Given the description of an element on the screen output the (x, y) to click on. 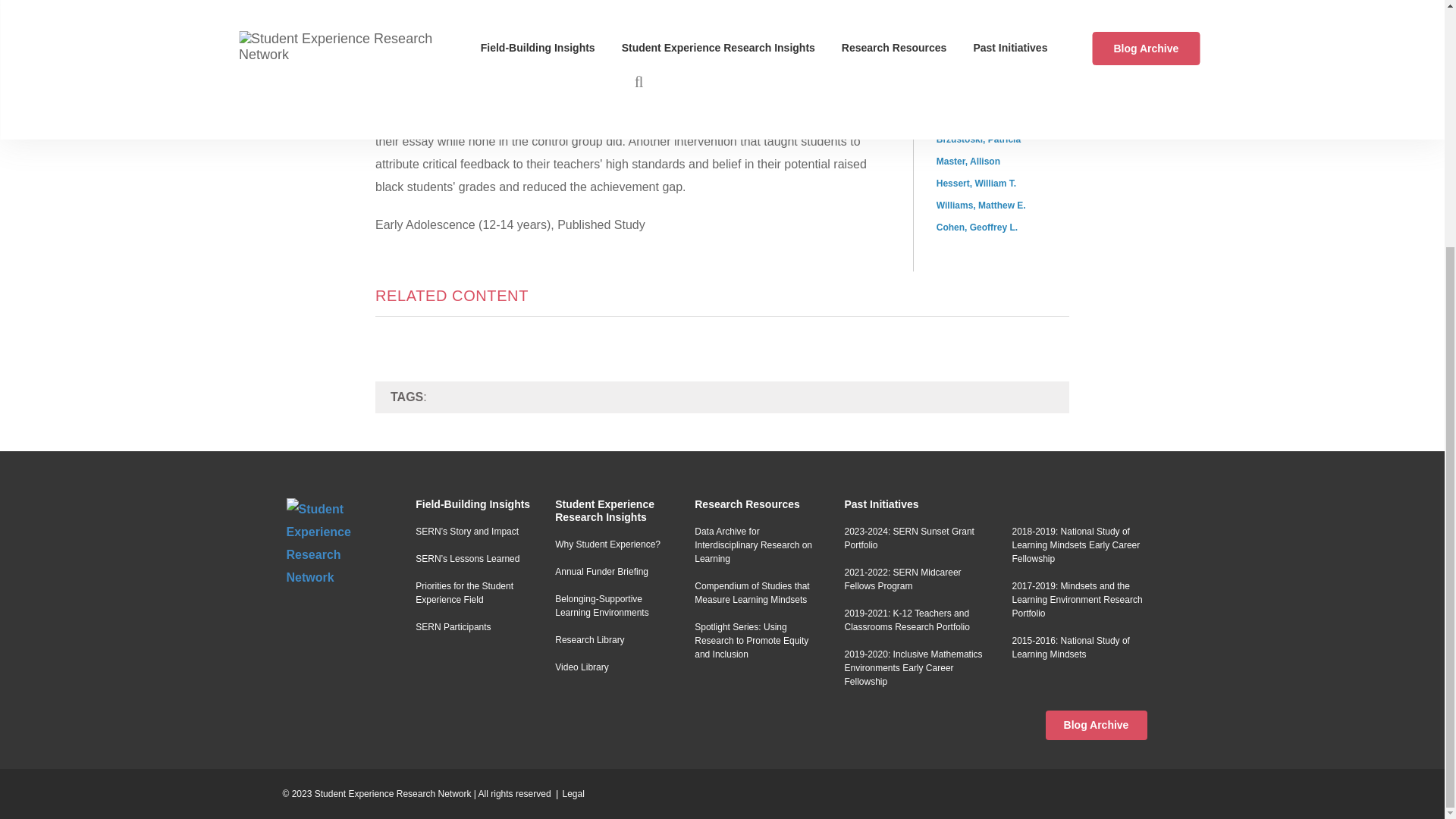
Master, Allison (968, 161)
Garcia, Julio (963, 95)
Brzustoski, Patricia (978, 139)
Yeager, David S. (971, 50)
Hessert, William T. (976, 183)
Williams, Matthew E. (981, 204)
Purdie-Vaughns, Valerie (988, 72)
Apfel, Nancy (963, 117)
